Given the description of an element on the screen output the (x, y) to click on. 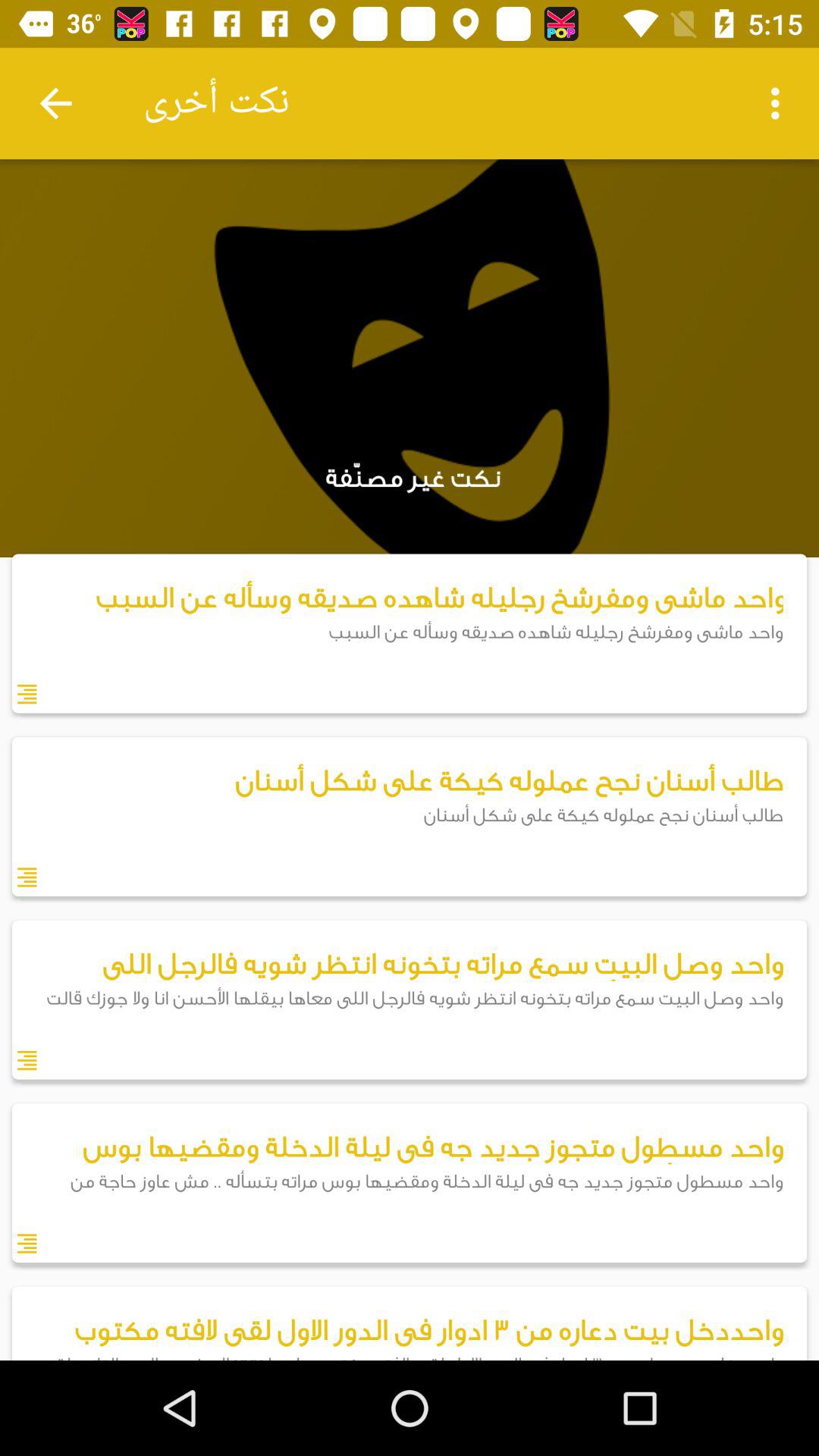
turn off item at the top right corner (779, 103)
